Given the description of an element on the screen output the (x, y) to click on. 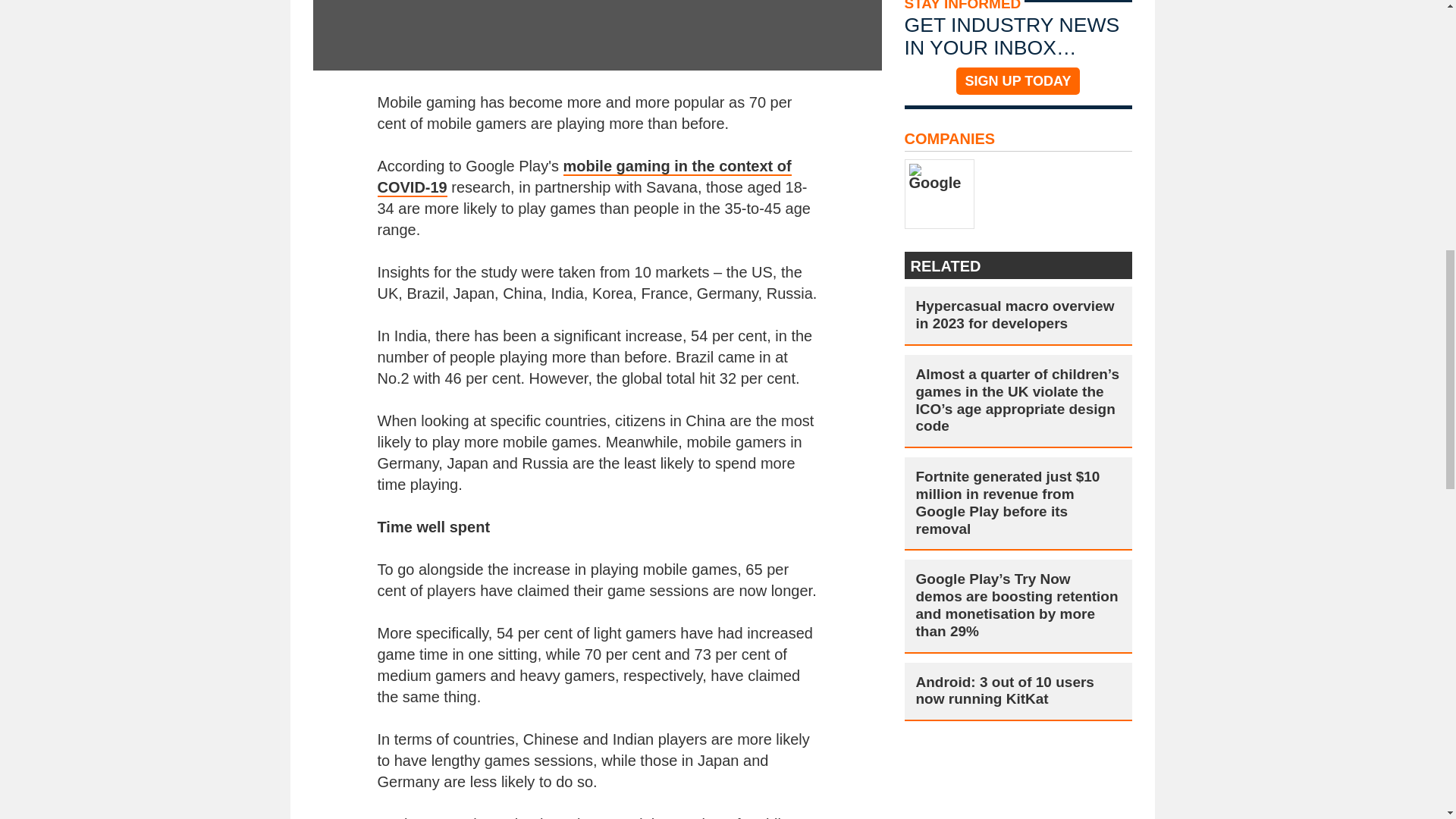
Hypercasual macro overview in 2023 for developers (1017, 314)
Android: 3 out of 10 users now running KitKat (1017, 691)
mobile gaming in the context of COVID-19 (584, 177)
